Given the description of an element on the screen output the (x, y) to click on. 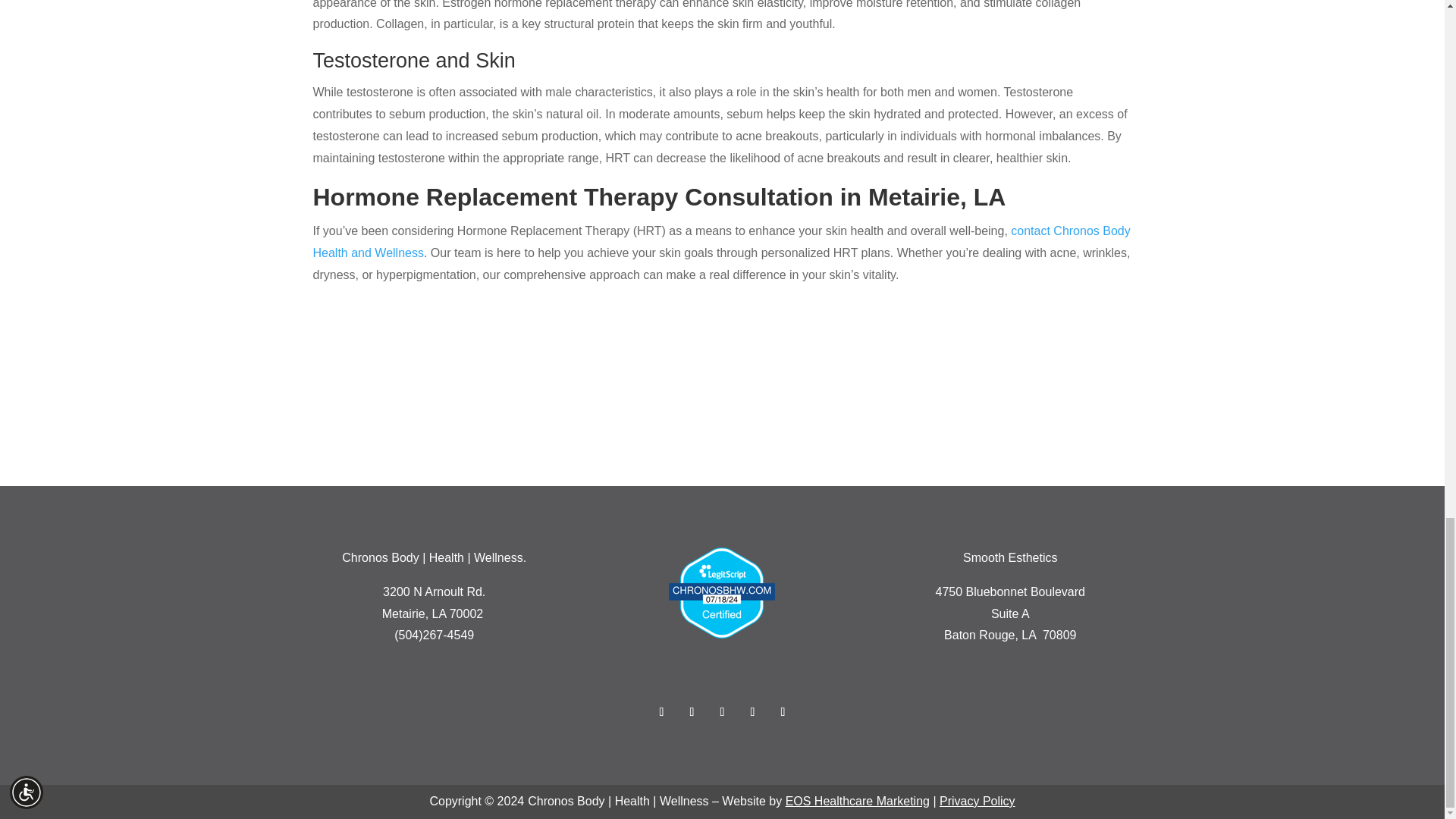
Follow on Yelp (691, 711)
Follow on Instagram (782, 711)
Follow on Facebook (660, 711)
Follow on Pinterest (751, 711)
Follow on Youtube (721, 711)
Verify LegitScript Approval (721, 634)
